Given the description of an element on the screen output the (x, y) to click on. 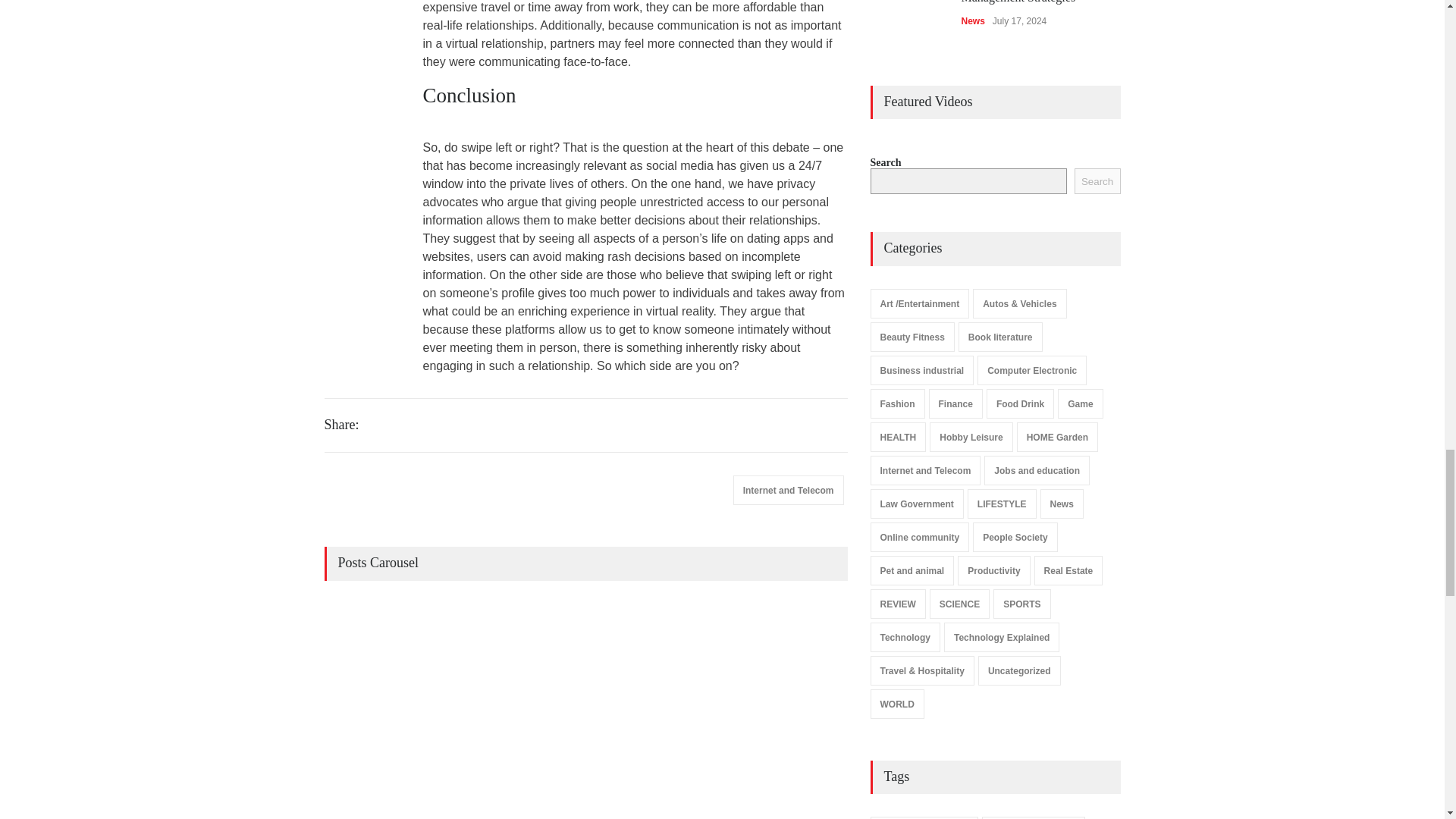
Internet and Telecom (788, 490)
